Given the description of an element on the screen output the (x, y) to click on. 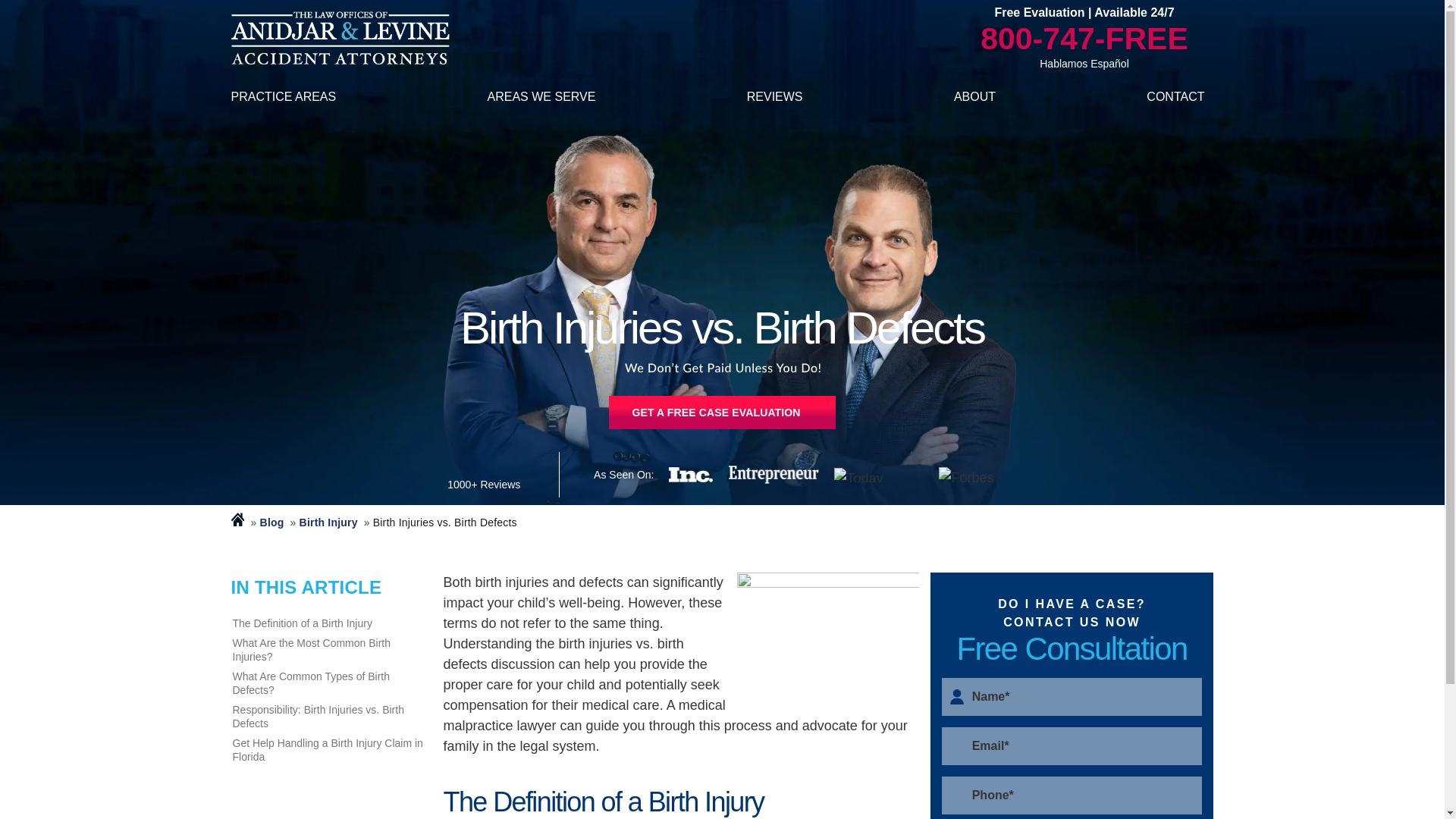
ABOUT (974, 96)
Get Help Handling a Birth Injury Claim in Florida (328, 749)
PRACTICE AREAS (283, 96)
What Are the Most Common Birth Injuries? (328, 649)
REVIEWS (774, 96)
CONTACT (1175, 96)
The Definition of a Birth Injury (328, 623)
Inc. (690, 474)
Entreprenuer (773, 475)
AREAS WE SERVE (541, 96)
SPEAK TO AN ATTORNEY NOW  (721, 412)
Today (878, 473)
What Are Common Types of Birth Defects? (328, 683)
Responsibility: Birth Injuries vs. Birth Defects (328, 716)
Forbes (971, 474)
